Given the description of an element on the screen output the (x, y) to click on. 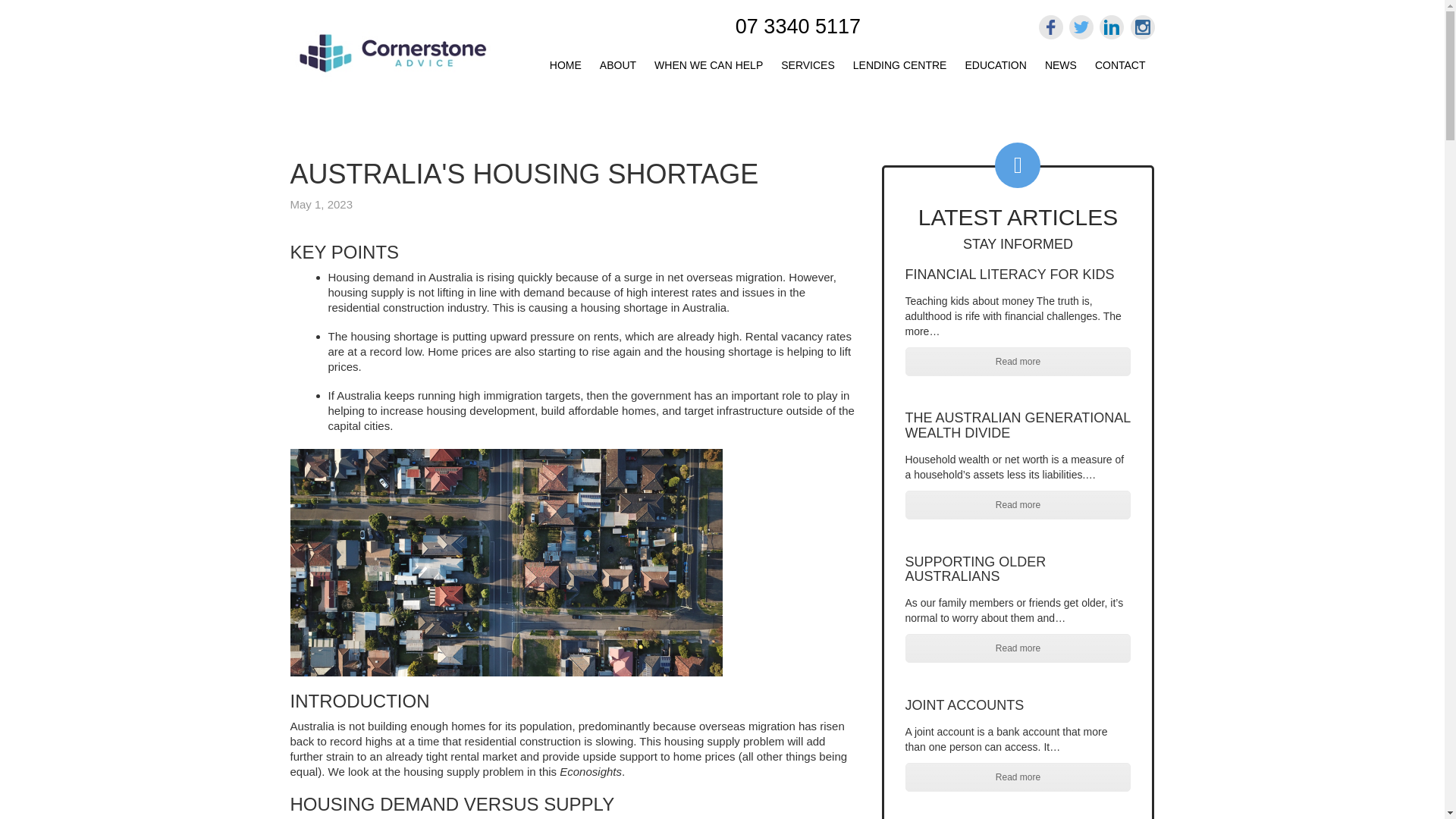
Visit us on LinkedIn (1111, 27)
Lending Centre (900, 62)
EDUCATION (995, 62)
Read more (1018, 361)
Read more (1018, 504)
CONTACT (1120, 62)
Visit us on Twitter (1080, 27)
LENDING CENTRE (900, 62)
SUPPORTING OLDER AUSTRALIANS (975, 569)
Visit us on Facebook (1050, 27)
THE AUSTRALIAN GENERATIONAL WEALTH DIVIDE (1018, 425)
About (618, 62)
ABOUT (618, 62)
WHEN WE CAN HELP (708, 62)
SERVICES (807, 62)
